Given the description of an element on the screen output the (x, y) to click on. 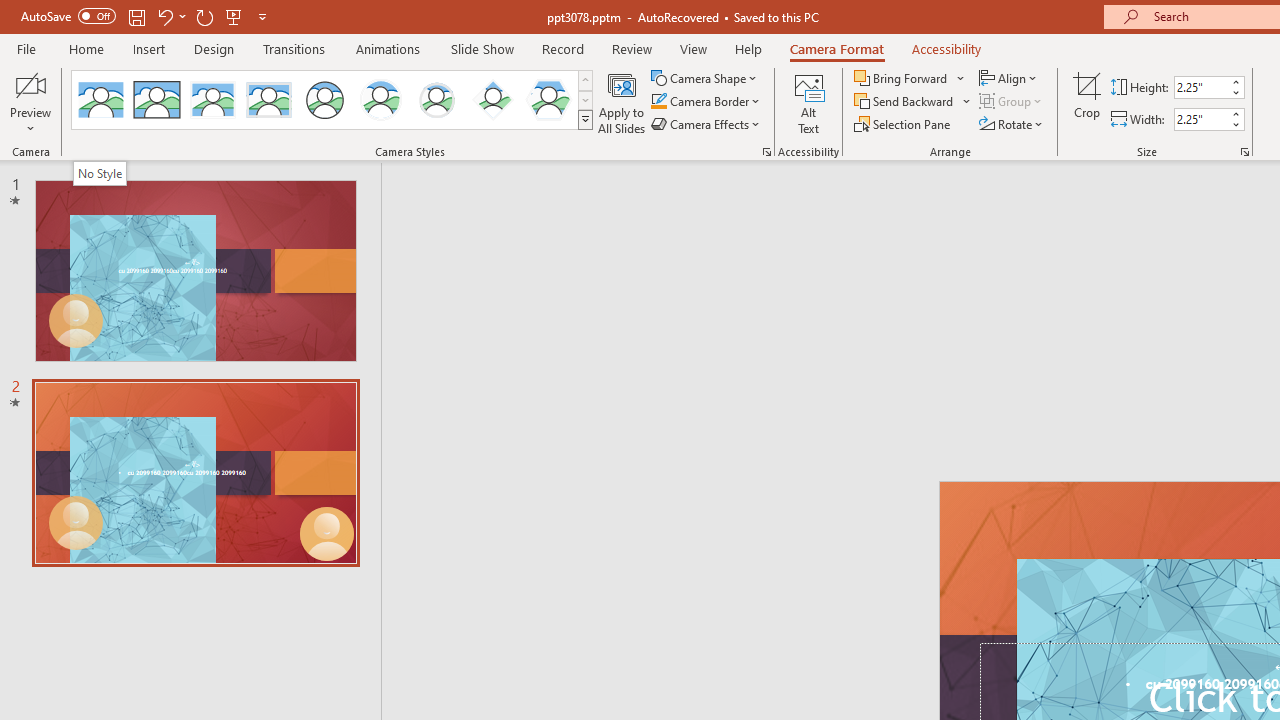
More Options (967, 101)
Row up (585, 79)
View (693, 48)
Design (214, 48)
Transitions (294, 48)
Camera Format (836, 48)
Help (748, 48)
Selection Pane... (904, 124)
Undo (164, 15)
Center Shadow Diamond (492, 100)
AutoSave (68, 16)
Review (631, 48)
Center Shadow Hexagon (548, 100)
System (10, 11)
